Given the description of an element on the screen output the (x, y) to click on. 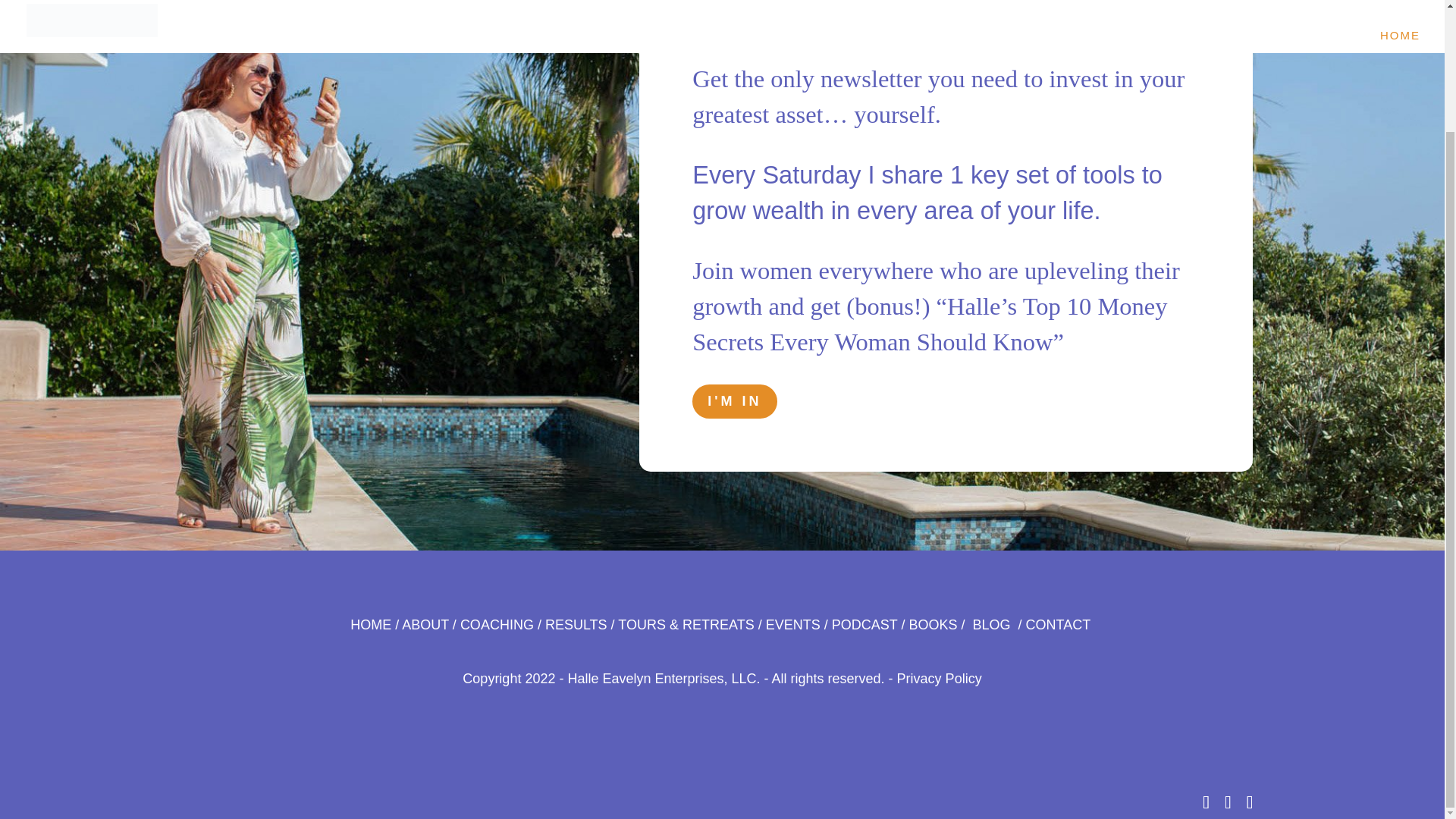
BOOKS (932, 624)
PODCAST (864, 624)
I'M IN (734, 401)
ABOUT (424, 624)
RESULTS (575, 624)
HOME (370, 624)
COACHING (497, 624)
EVENTS (793, 624)
CONTACT  (1059, 624)
Privacy Policy (938, 678)
